Given the description of an element on the screen output the (x, y) to click on. 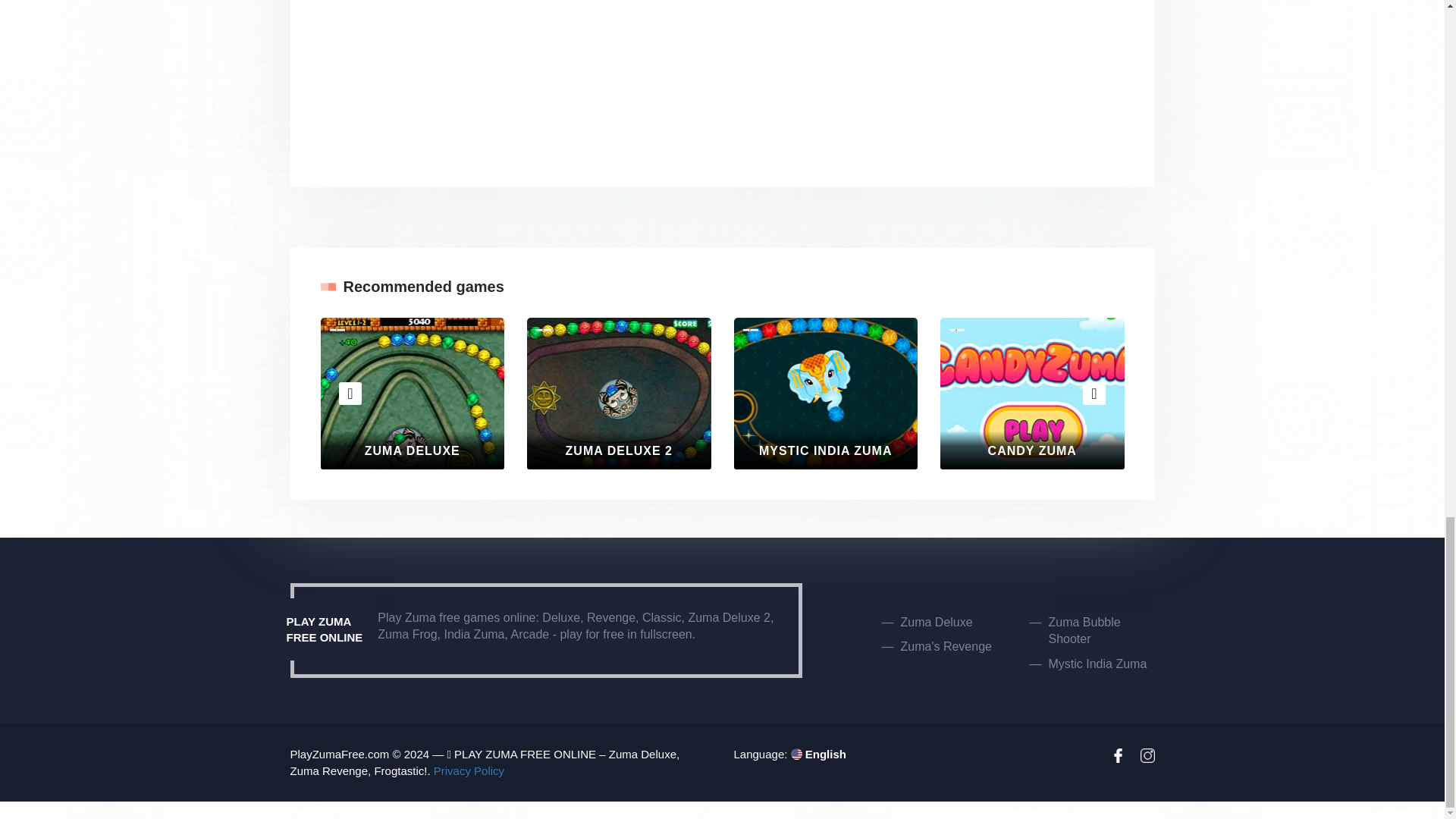
2 Stars (542, 346)
CANDY ZUMA (1032, 393)
ZUMA DELUXE 2 (619, 393)
Zuma Bubble Shooter (1083, 630)
1 Star (542, 335)
3 Stars (542, 358)
2 Stars (336, 346)
5 Stars (336, 383)
ZUMA DELUXE (411, 393)
Mystic India Zuma (1097, 663)
